Given the description of an element on the screen output the (x, y) to click on. 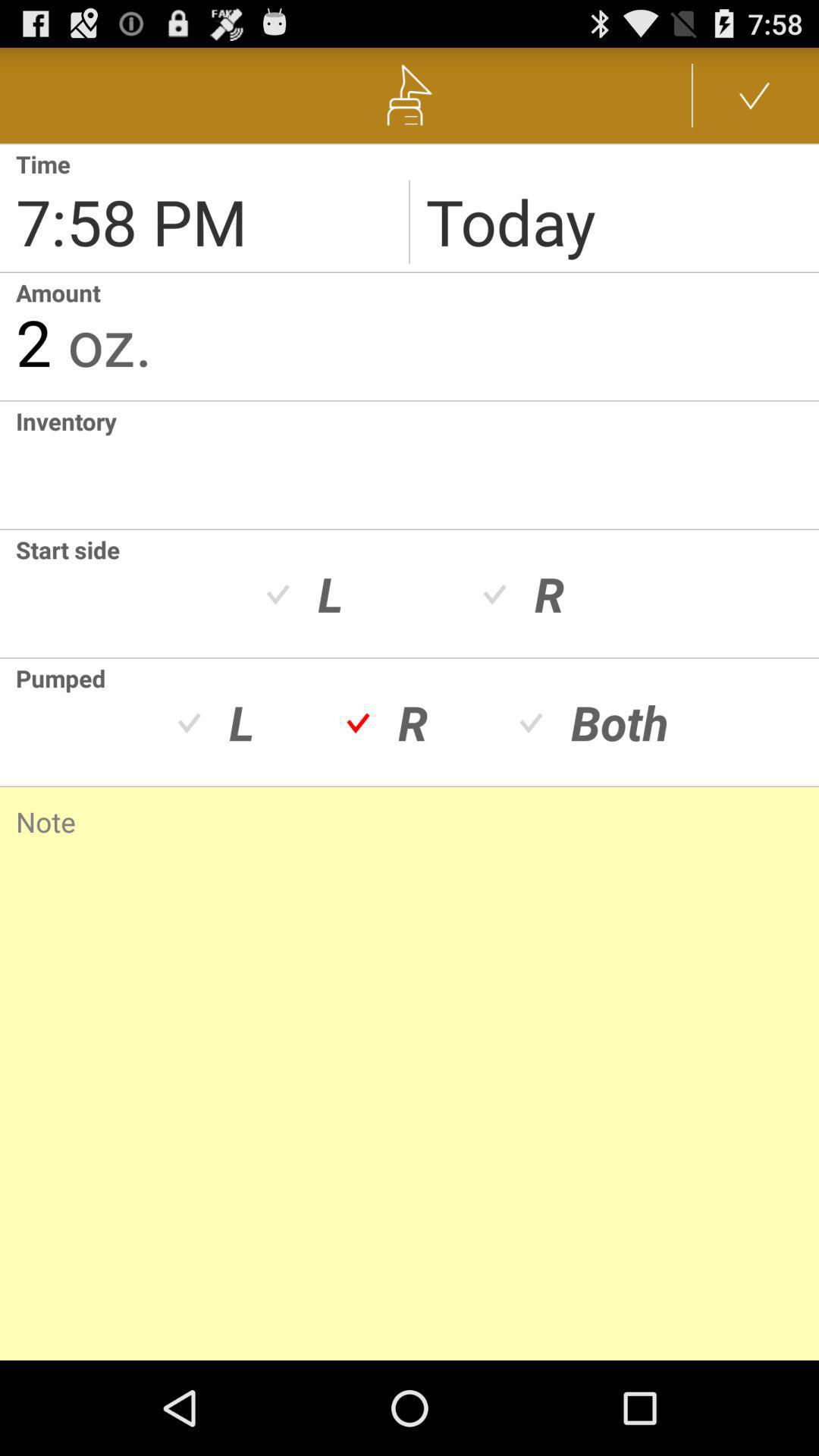
enter quantity (7, 464)
